Given the description of an element on the screen output the (x, y) to click on. 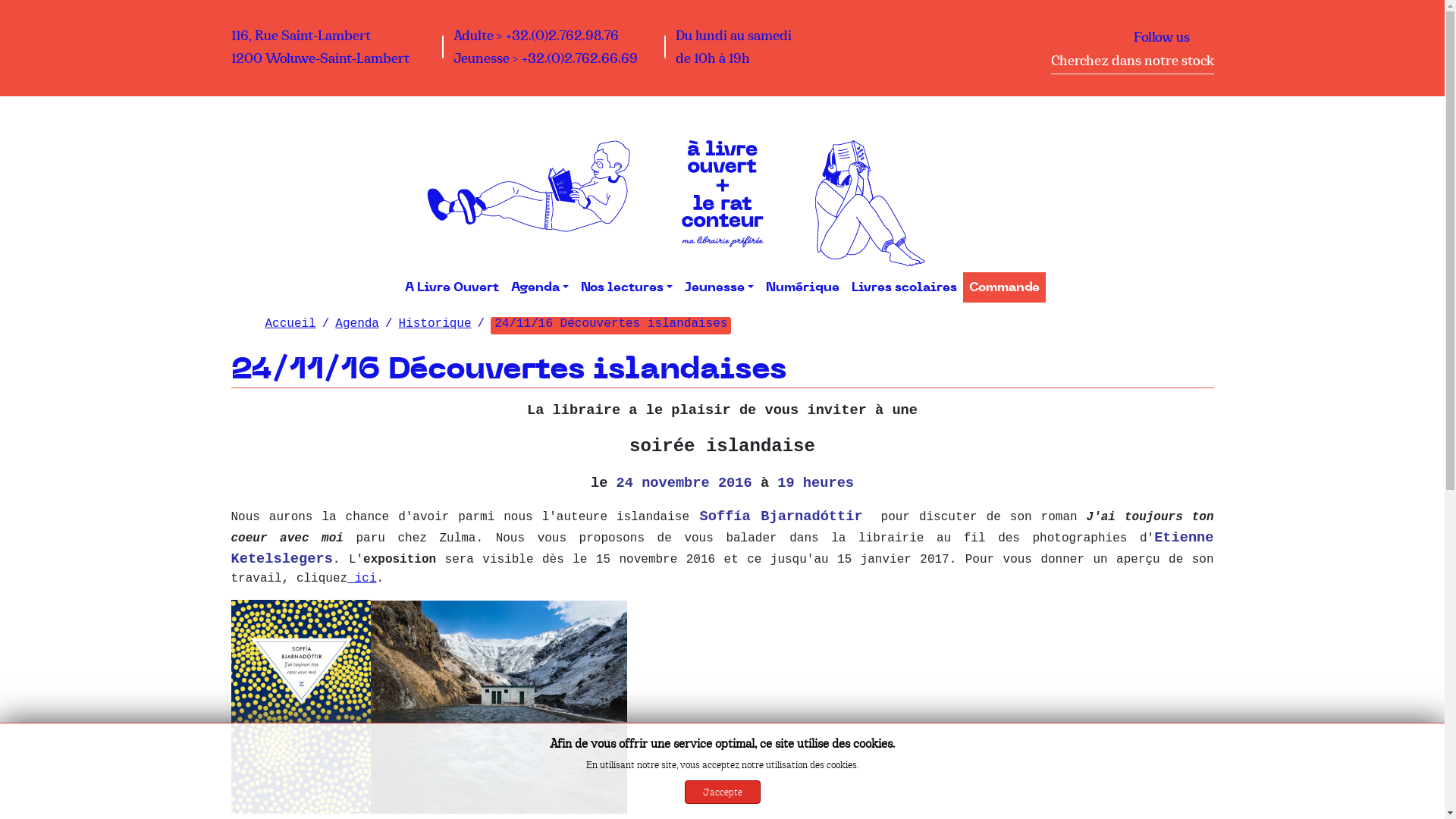
A Livre Ouvert Element type: text (451, 287)
Livres scolaires Element type: text (904, 287)
Commande Element type: text (1004, 287)
Agenda Element type: text (539, 287)
Accueil Element type: text (290, 323)
Historique Element type: text (434, 323)
ici Element type: text (361, 578)
Cherchez dans notre stock Element type: text (1132, 62)
Nos lectures Element type: text (626, 287)
Agenda Element type: text (357, 323)
Jeunesse Element type: text (718, 287)
jaitoujourstoncoeuravecmoi Element type: hover (300, 706)
